Given the description of an element on the screen output the (x, y) to click on. 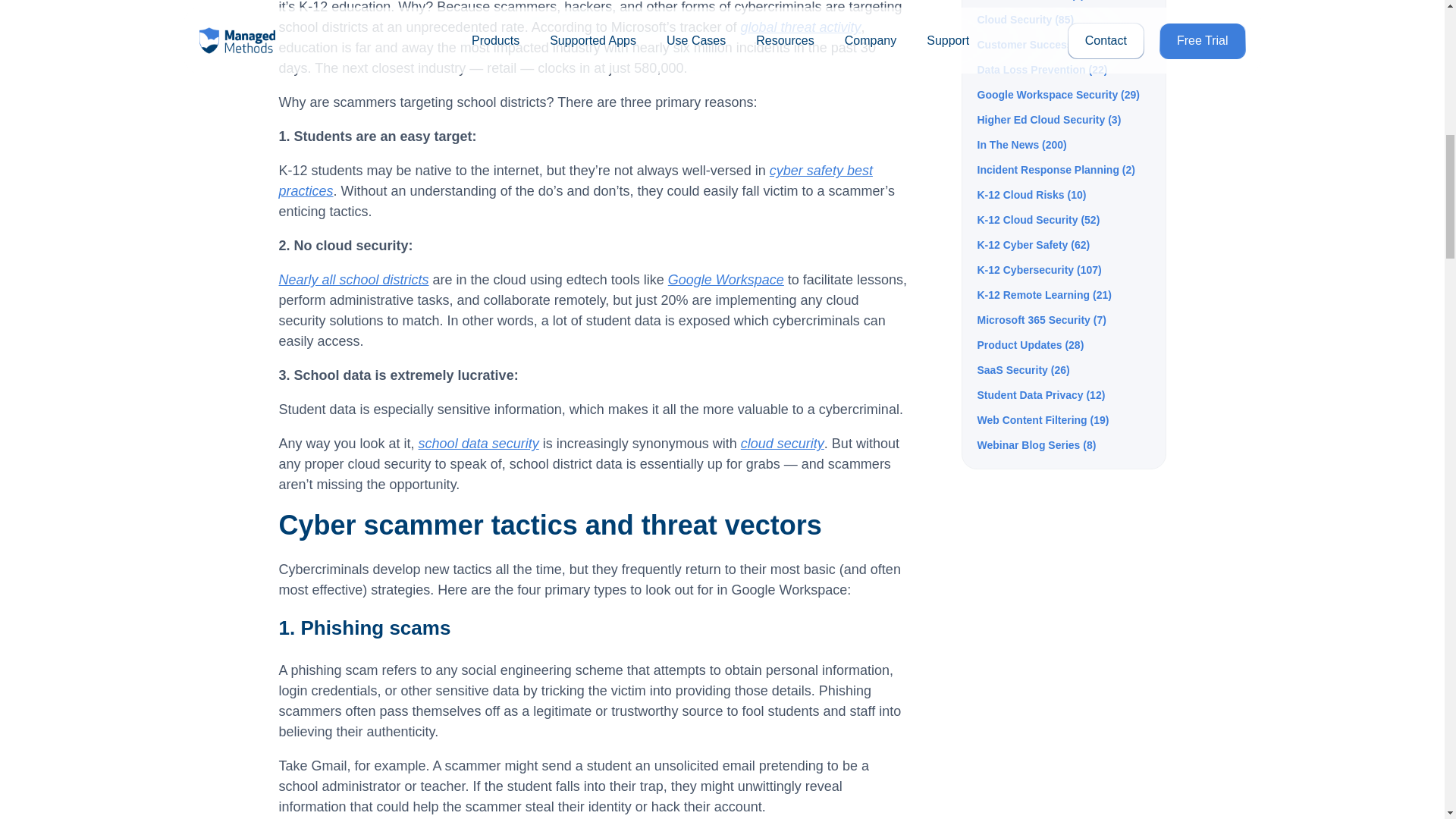
Google Workspace (726, 279)
school data security (478, 443)
Nearly all school districts (354, 279)
global threat activity (799, 27)
cloud security (782, 443)
cyber safety best practices (575, 180)
